Given the description of an element on the screen output the (x, y) to click on. 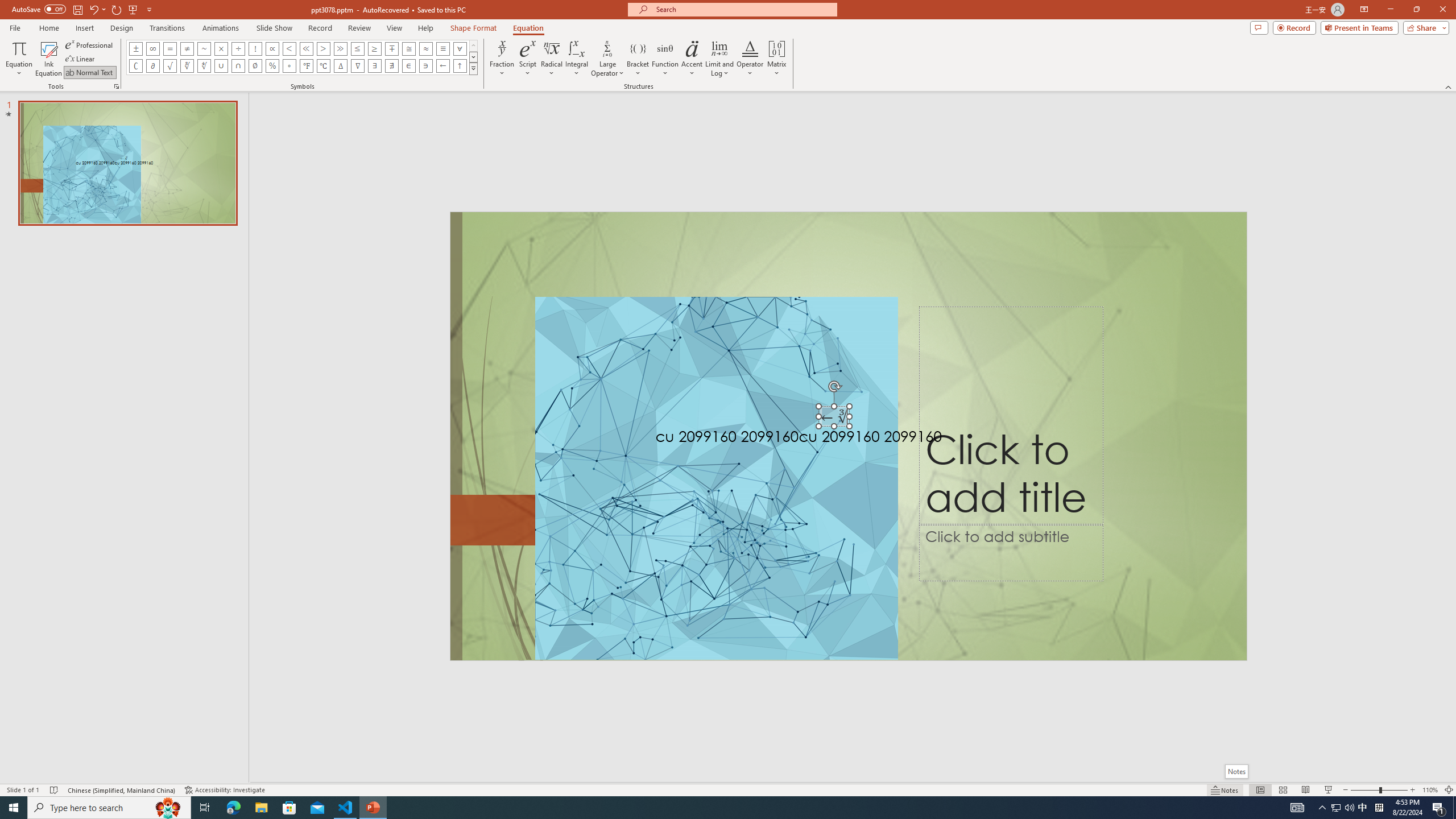
Equation Symbol For All (459, 48)
Equation Symbol Degrees Fahrenheit (306, 65)
Equation Symbol Intersection (238, 65)
Equation (528, 28)
Equation Symbol Element Of (408, 65)
Equation Symbol Union (221, 65)
